Given the description of an element on the screen output the (x, y) to click on. 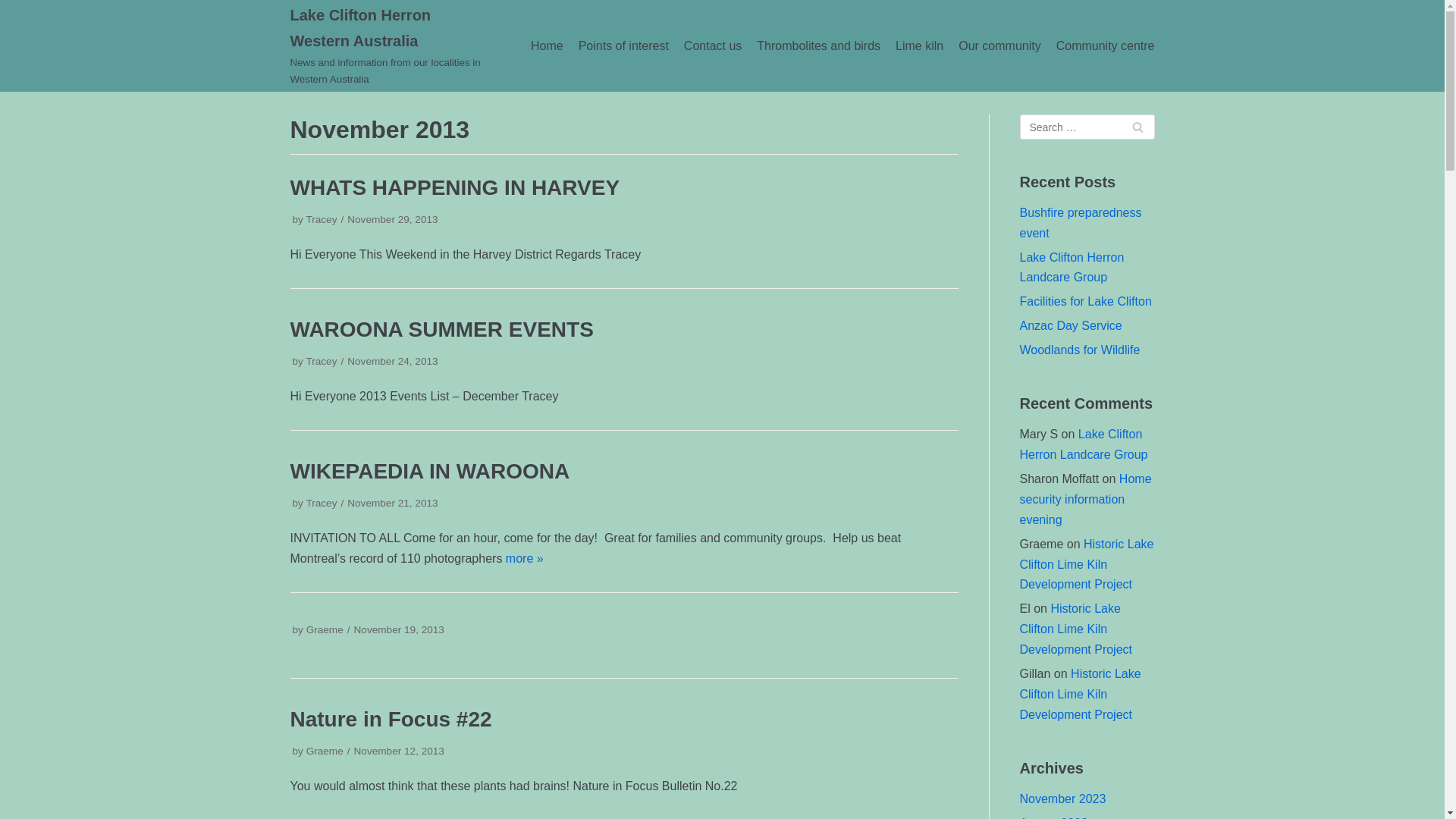
Community centre Element type: text (1105, 46)
Facilities for Lake Clifton Element type: text (1085, 300)
November 2023 Element type: text (1062, 798)
Points of interest Element type: text (623, 46)
Tracey Element type: text (320, 219)
Graeme Element type: text (324, 750)
Anzac Day Service Element type: text (1070, 325)
Lake Clifton Herron Landcare Group Element type: text (1071, 267)
Historic Lake Clifton Lime Kiln Development Project Element type: text (1075, 628)
Bushfire preparedness event Element type: text (1080, 222)
Home Element type: text (546, 46)
Thrombolites and birds Element type: text (818, 46)
Historic Lake Clifton Lime Kiln Development Project Element type: text (1079, 694)
Skip to content Element type: text (15, 31)
Home security information evening Element type: text (1085, 499)
Contact us Element type: text (712, 46)
Search Element type: text (1137, 126)
Tracey Element type: text (320, 502)
Graeme Element type: text (324, 629)
WHATS HAPPENING IN HARVEY Element type: text (454, 187)
WAROONA SUMMER EVENTS Element type: text (441, 329)
Woodlands for Wildlife Element type: text (1079, 349)
Lake Clifton Herron Landcare Group Element type: text (1083, 444)
Tracey Element type: text (320, 361)
Historic Lake Clifton Lime Kiln Development Project Element type: text (1086, 564)
Nature in Focus #22 Element type: text (390, 719)
WIKEPAEDIA IN WAROONA Element type: text (429, 471)
Our community Element type: text (999, 46)
Lime kiln Element type: text (919, 46)
